Given the description of an element on the screen output the (x, y) to click on. 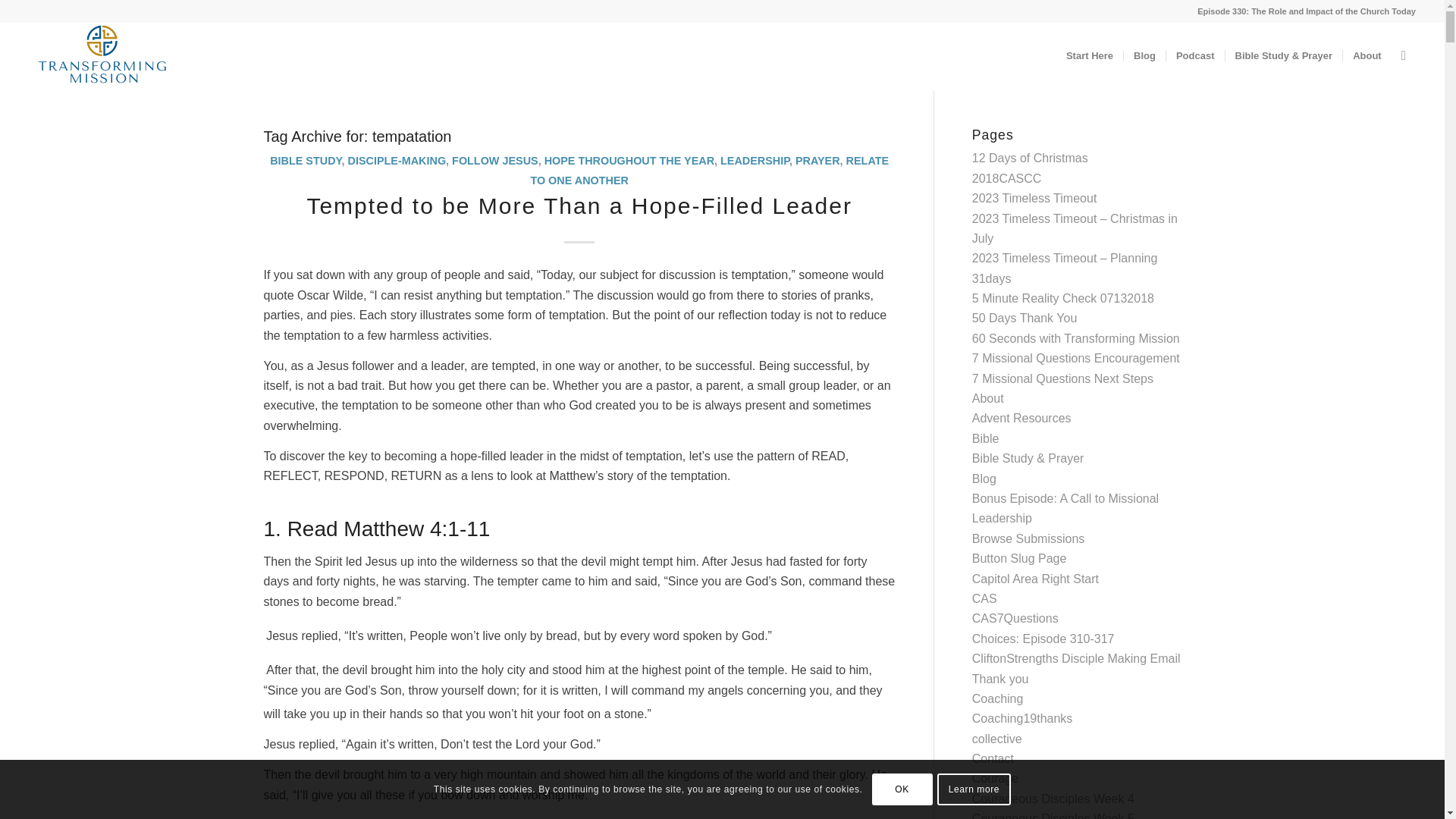
LEADERSHIP (754, 160)
7 Missional Questions Next Steps (1062, 378)
BIBLE STUDY (304, 160)
2023 Timeless Timeout (1034, 197)
60 Seconds with Transforming Mission (1075, 338)
2018CASCC (1007, 178)
Browse Submissions (1028, 538)
Bible (985, 438)
12 Days of Christmas (1029, 157)
About (988, 398)
7 Missional Questions Encouragement (1075, 358)
50 Days Thank You (1024, 318)
Blog (983, 478)
Advent Resources (1021, 418)
About (1366, 56)
